Given the description of an element on the screen output the (x, y) to click on. 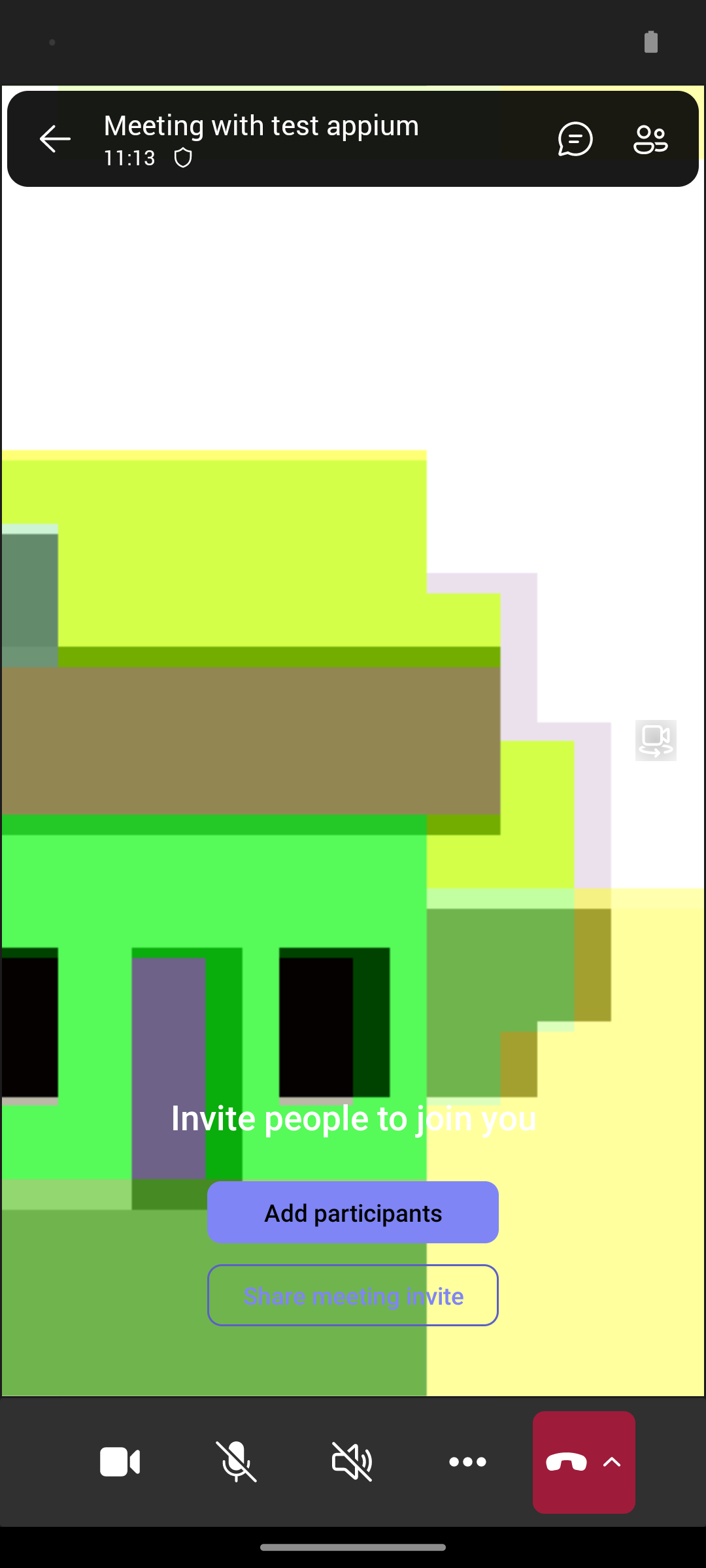
Back (55, 138)
Chat (570, 138)
Show participants (655, 138)
Rotate camera (655, 739)
Add participants (352, 1211)
Share meeting invite (352, 1294)
Turn off camera (120, 1462)
Unmute (236, 1462)
Audio (352, 1462)
More options (468, 1462)
Hang up (584, 1462)
